Given the description of an element on the screen output the (x, y) to click on. 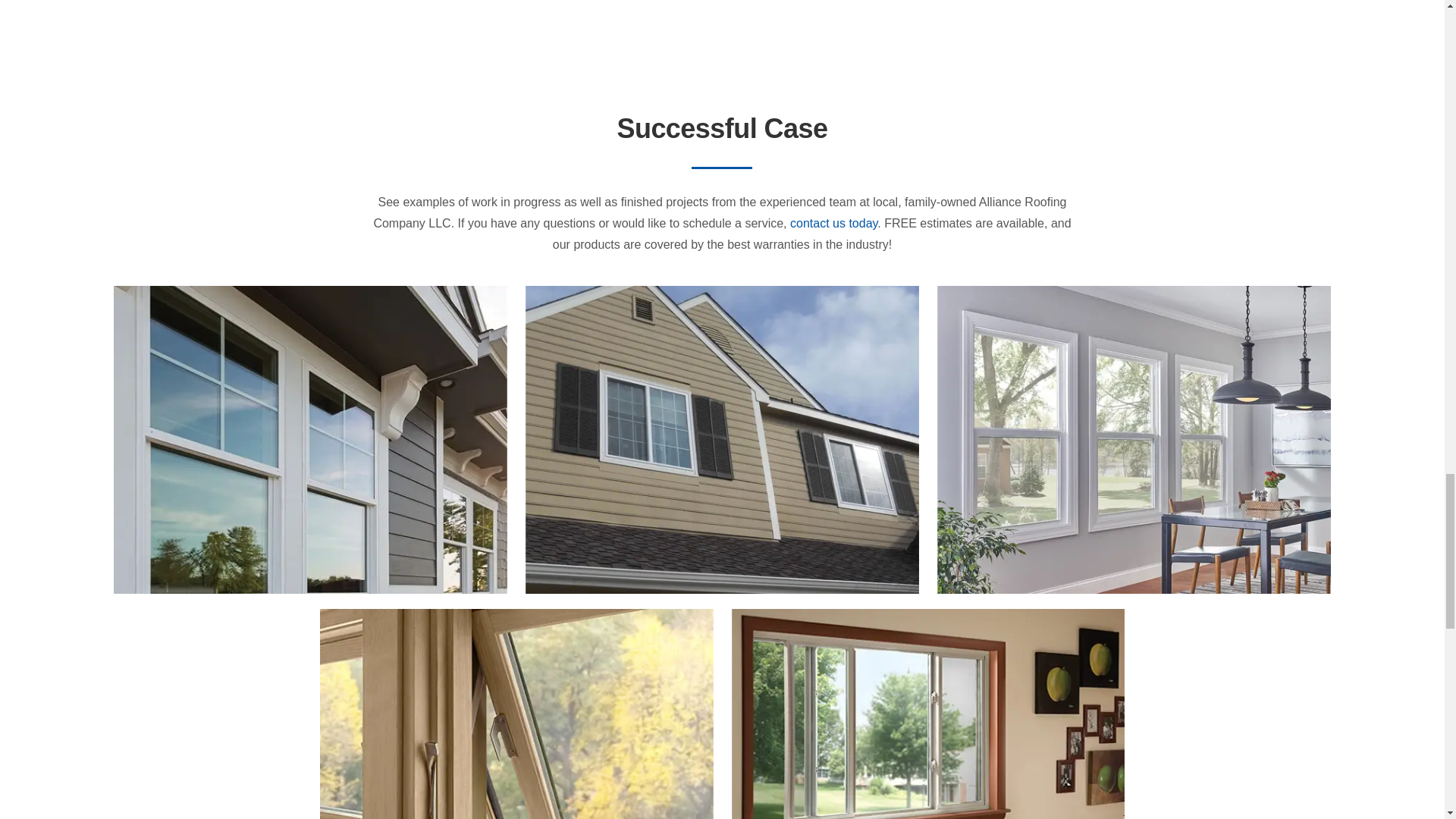
WindowReplacement-img-03 (721, 291)
WindowReplacement-img-02 (309, 291)
contact us today (833, 223)
WindowReplacement-img-05 (516, 614)
WindowReplacement-img-04 (1133, 291)
WindowReplacement-img-06 (927, 614)
